Given the description of an element on the screen output the (x, y) to click on. 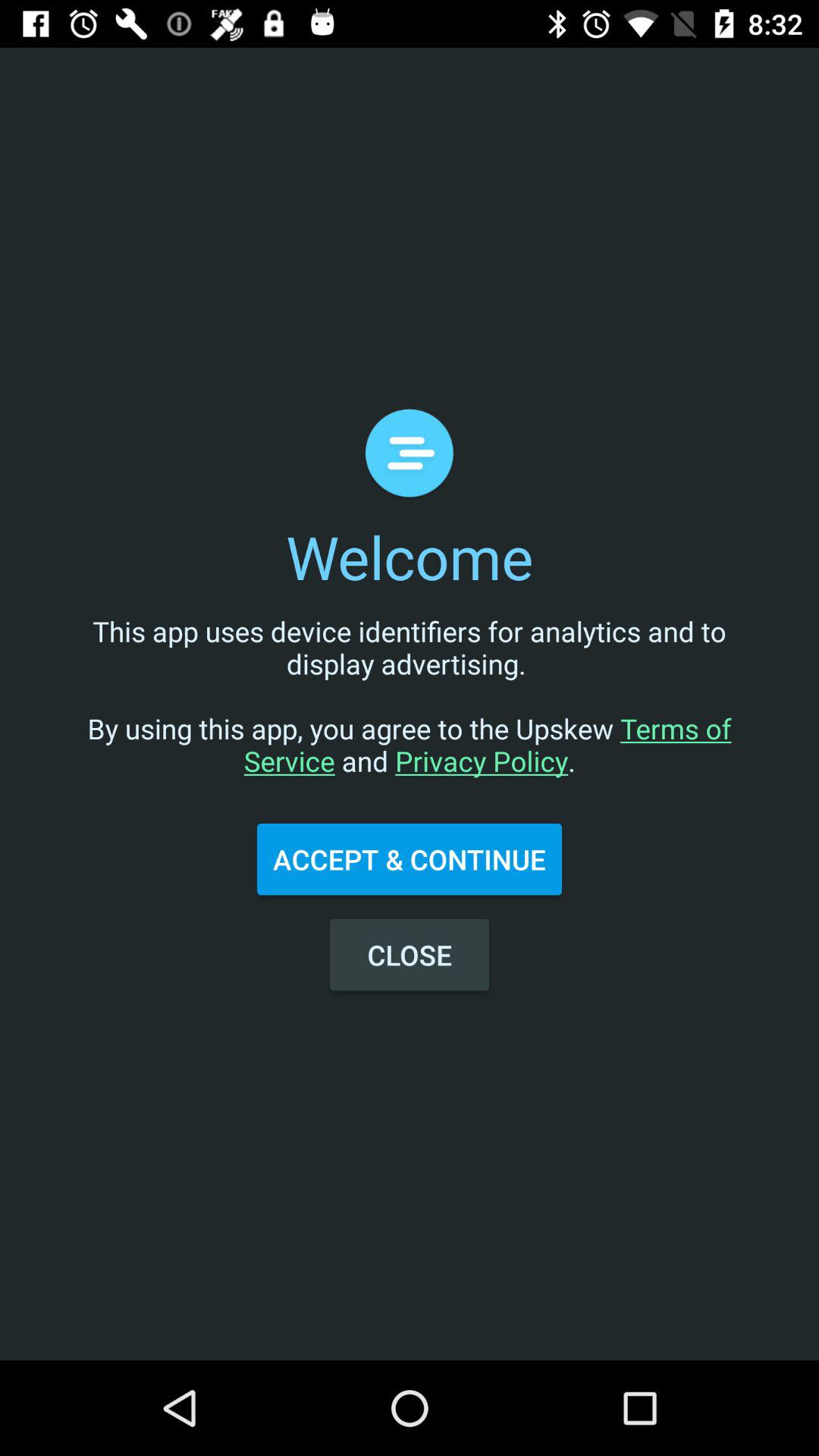
choose icon below the accept & continue icon (409, 954)
